Given the description of an element on the screen output the (x, y) to click on. 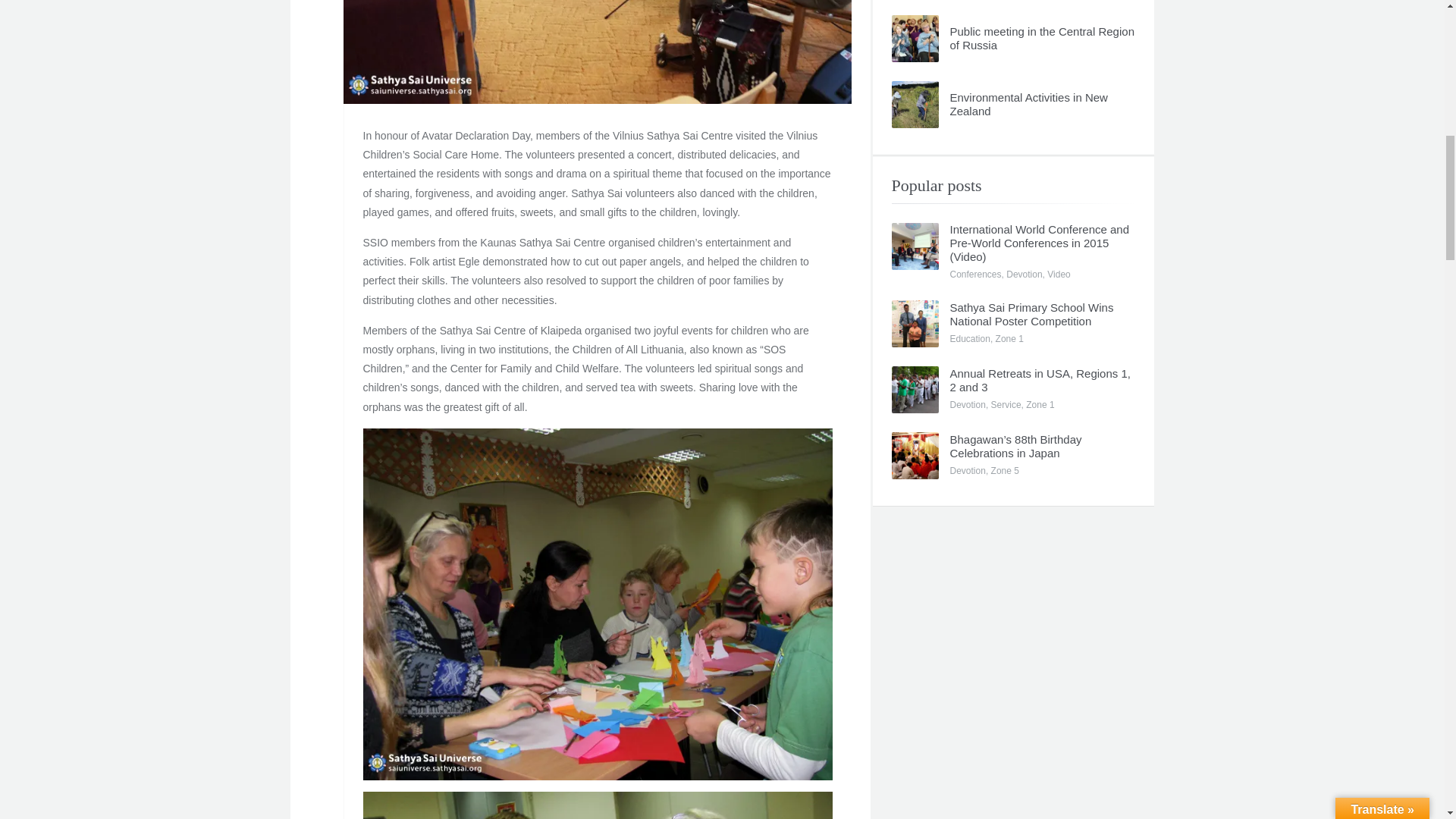
Avatar Declaration Day observance in Lithuania (596, 52)
